Given the description of an element on the screen output the (x, y) to click on. 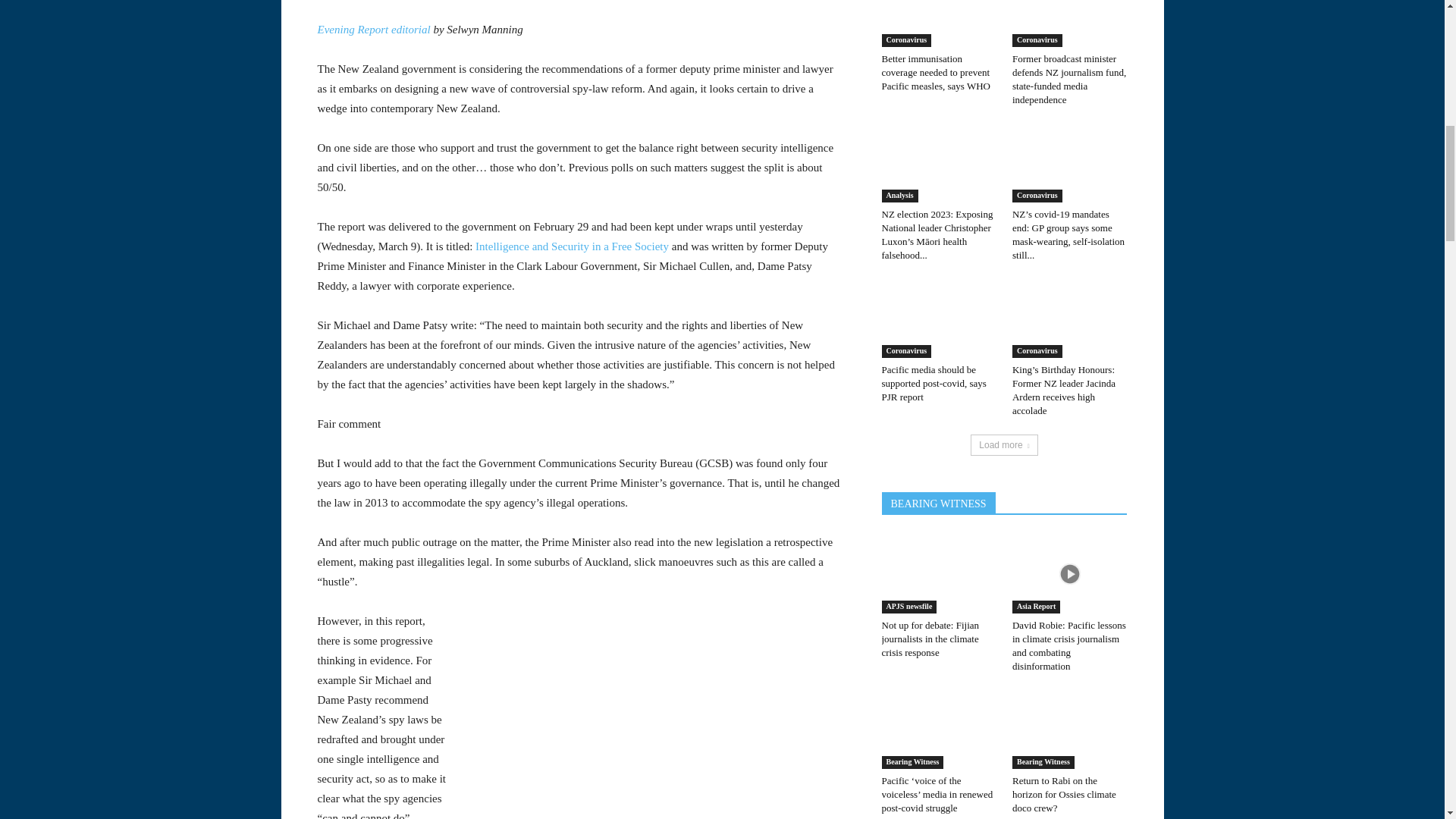
China (140, 236)
Tokelau (140, 10)
Myanmar (140, 352)
Indonesia (140, 265)
Tuvalu (140, 63)
Cambodia (140, 208)
Vanuatu (140, 92)
Lao (140, 294)
Malaysia (140, 323)
West Papua (140, 121)
Asia Report (140, 150)
Tonga (140, 35)
Brunei (140, 179)
